Given the description of an element on the screen output the (x, y) to click on. 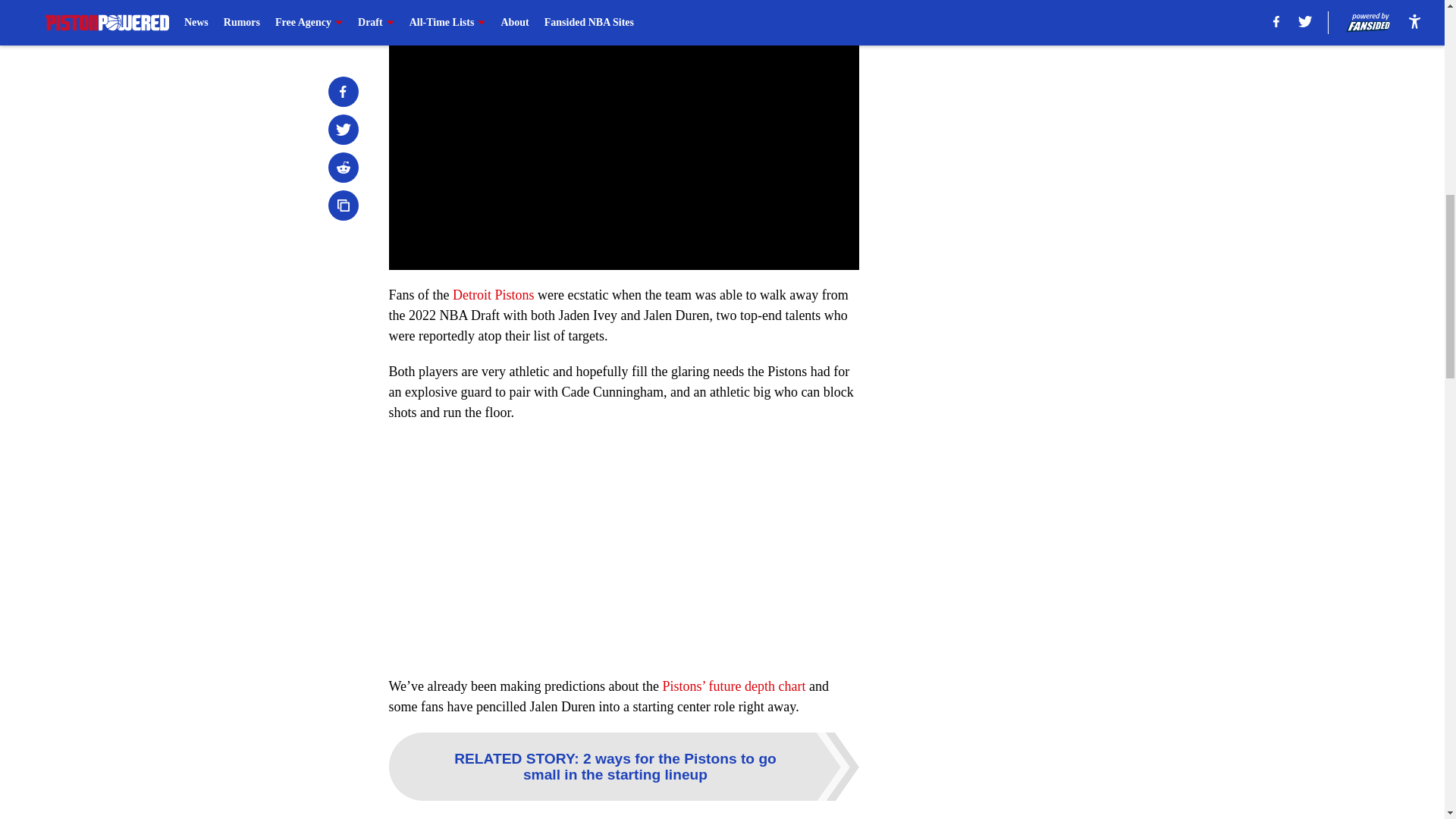
3rd party ad content (1047, 100)
Detroit Pistons (493, 294)
3rd party ad content (1047, 320)
